Given the description of an element on the screen output the (x, y) to click on. 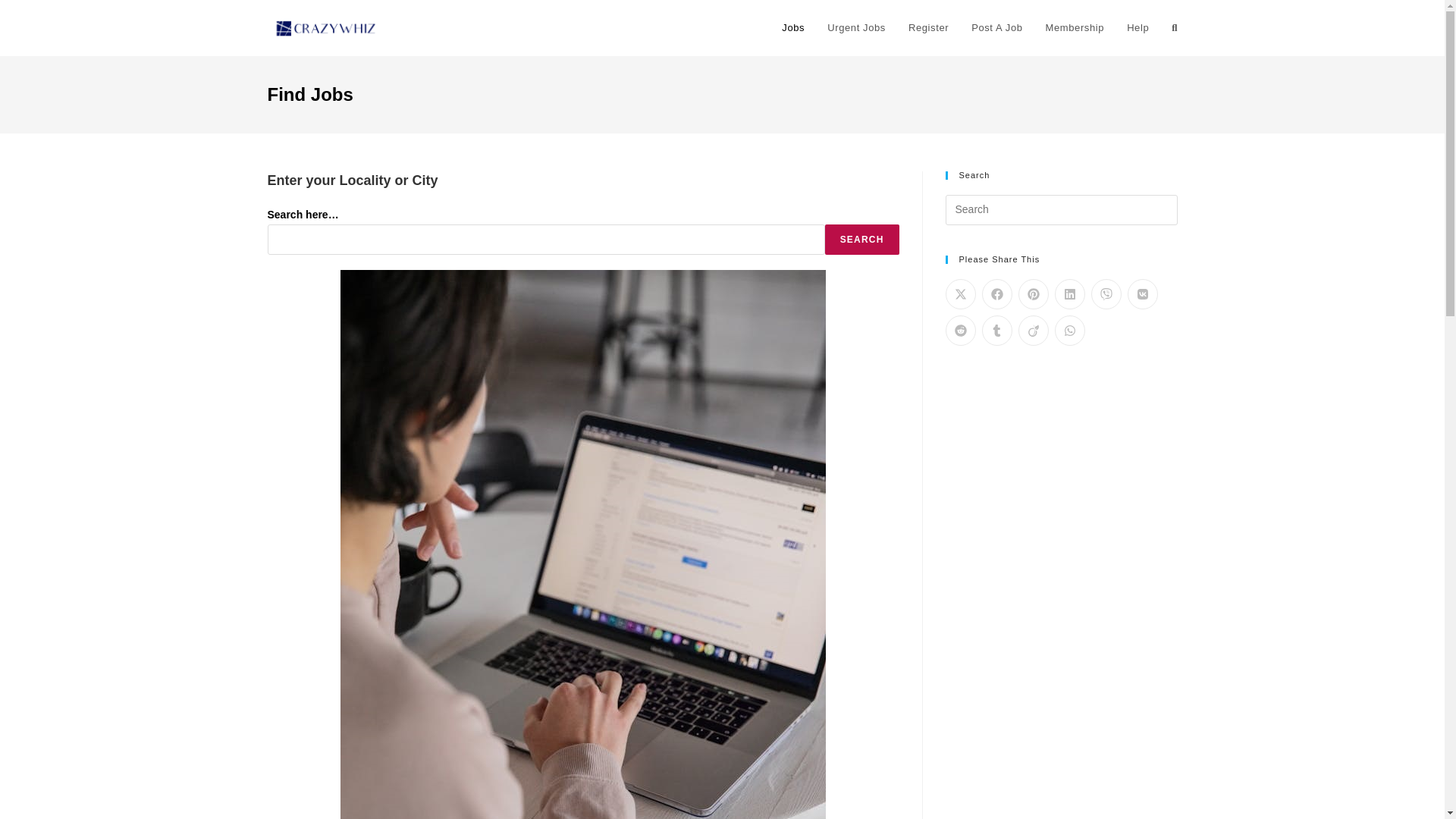
Urgent Jobs (855, 28)
Share on Tumblr (996, 330)
Share on Viber (1105, 294)
Share on Pinterest (1032, 294)
Share on WhatsApp (1069, 330)
Share on X (959, 294)
Share on VK (1141, 294)
Post A Job (996, 28)
Share on Reddit (959, 330)
Register (927, 28)
Share on Facebook (996, 294)
SEARCH (862, 239)
Membership (1074, 28)
Share on LinkedIn (1069, 294)
Share on Viadeo (1032, 330)
